Given the description of an element on the screen output the (x, y) to click on. 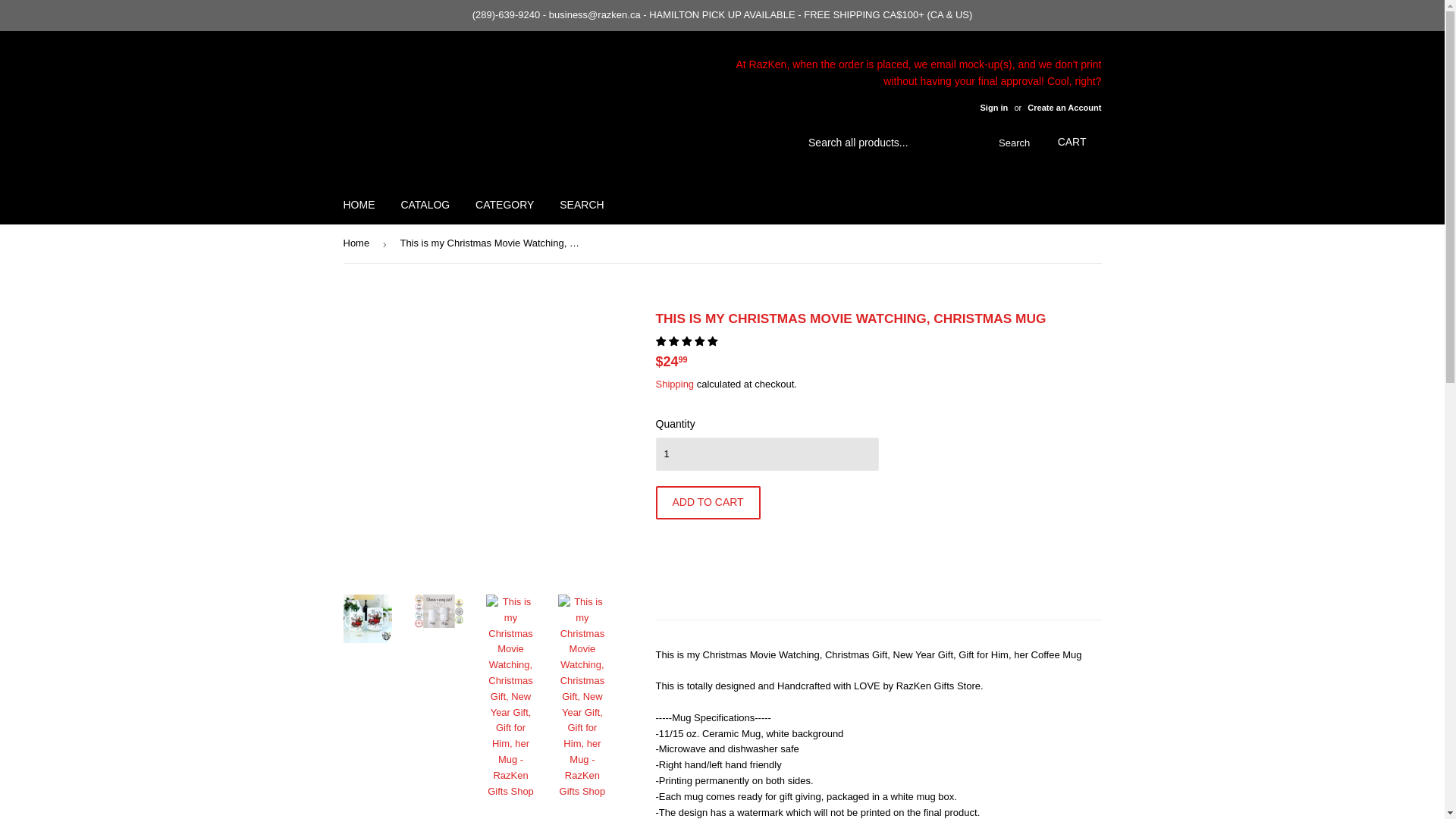
CATEGORY (504, 204)
Create an Account (1063, 107)
SEARCH (581, 204)
HOME (359, 204)
ADD TO CART (707, 502)
Shipping (674, 383)
1 (766, 453)
Sign in (993, 107)
Search (1010, 142)
CATALOG (424, 204)
